Given the description of an element on the screen output the (x, y) to click on. 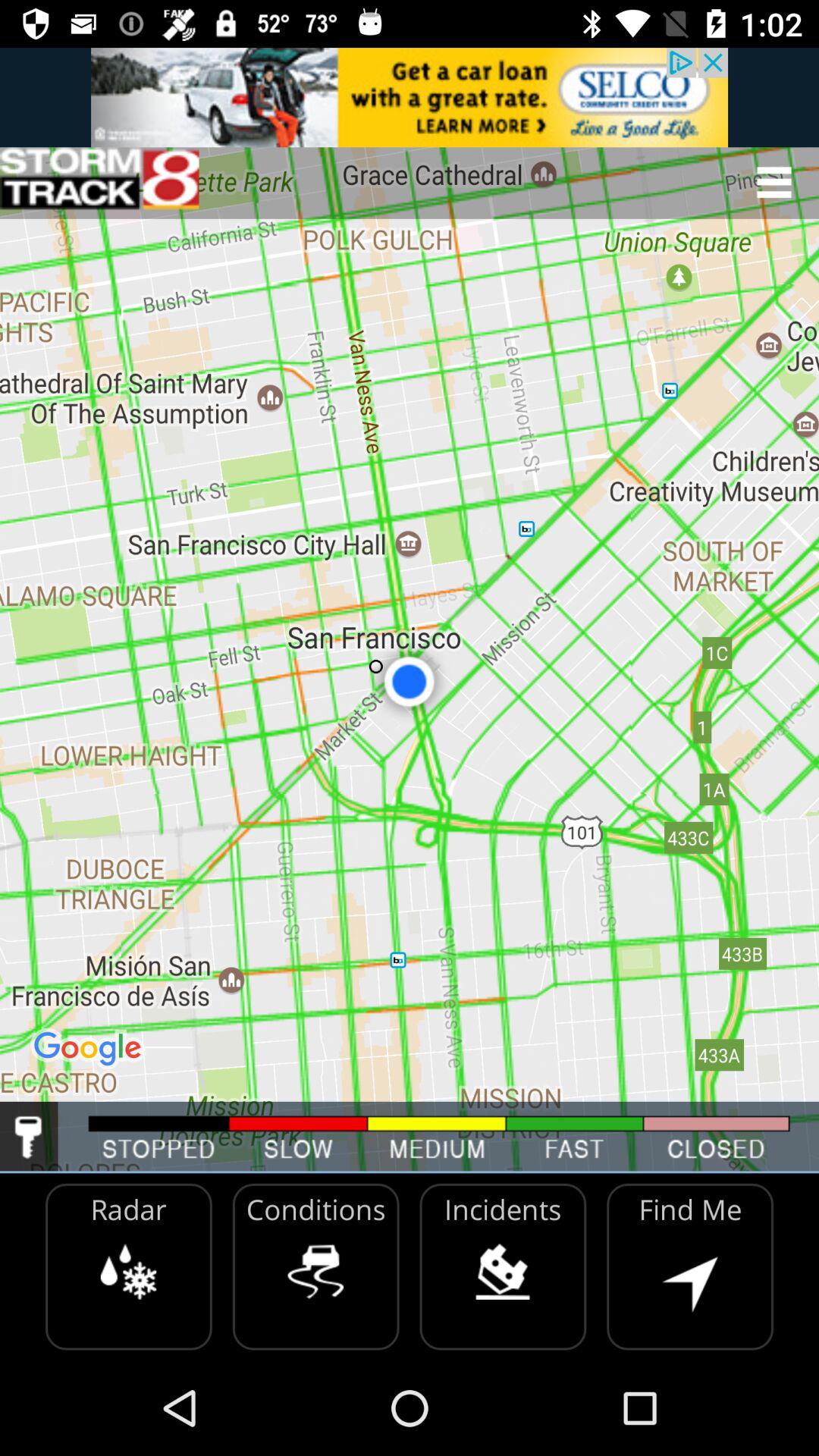
go to the main storm track 8 screen (99, 182)
